Given the description of an element on the screen output the (x, y) to click on. 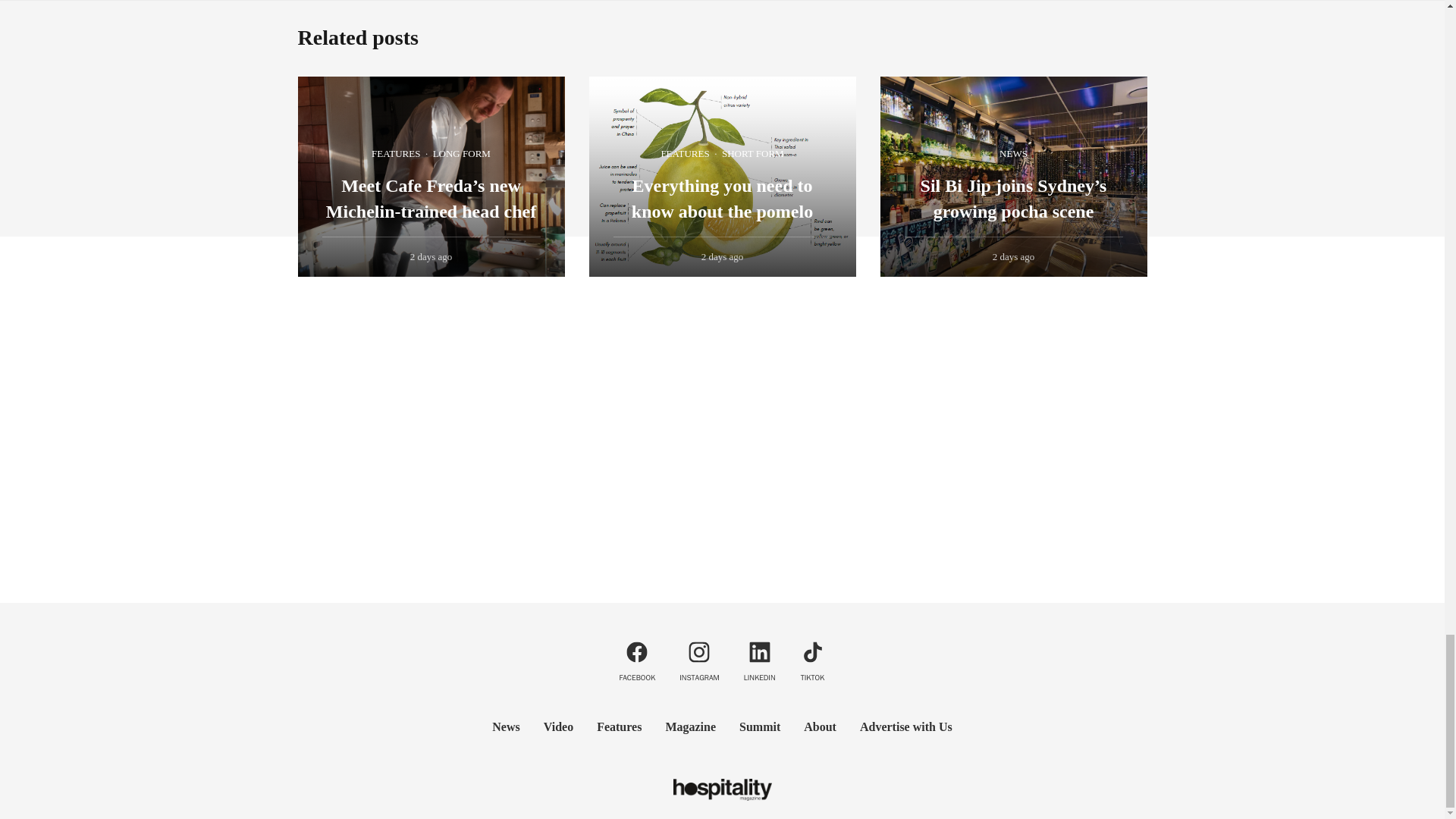
View all posts in Features (395, 154)
